Given the description of an element on the screen output the (x, y) to click on. 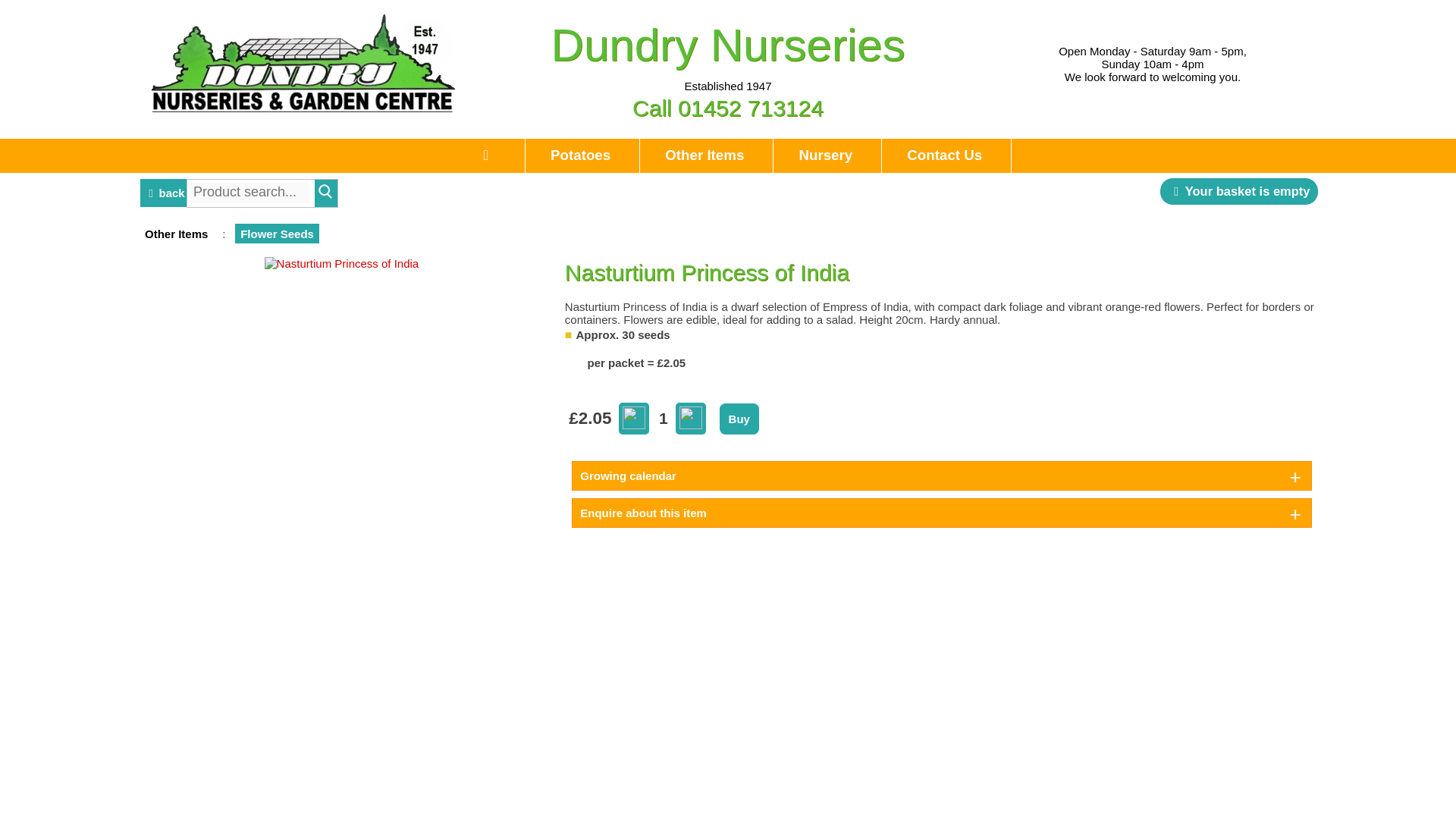
Dundry Nurseries (728, 44)
Flower Seeds (277, 233)
Buy (738, 418)
Potatoes (580, 155)
01452 713124 (751, 107)
Contact Us (944, 155)
Search (325, 191)
Nursery (825, 155)
Other Items (705, 155)
Your basket is empty (1238, 191)
back (163, 182)
